Given the description of an element on the screen output the (x, y) to click on. 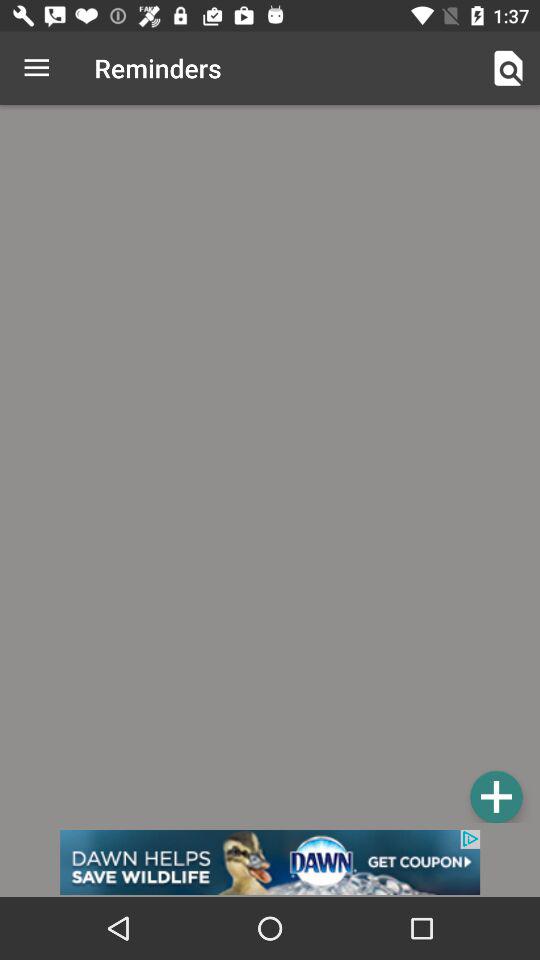
add banner (270, 861)
